Given the description of an element on the screen output the (x, y) to click on. 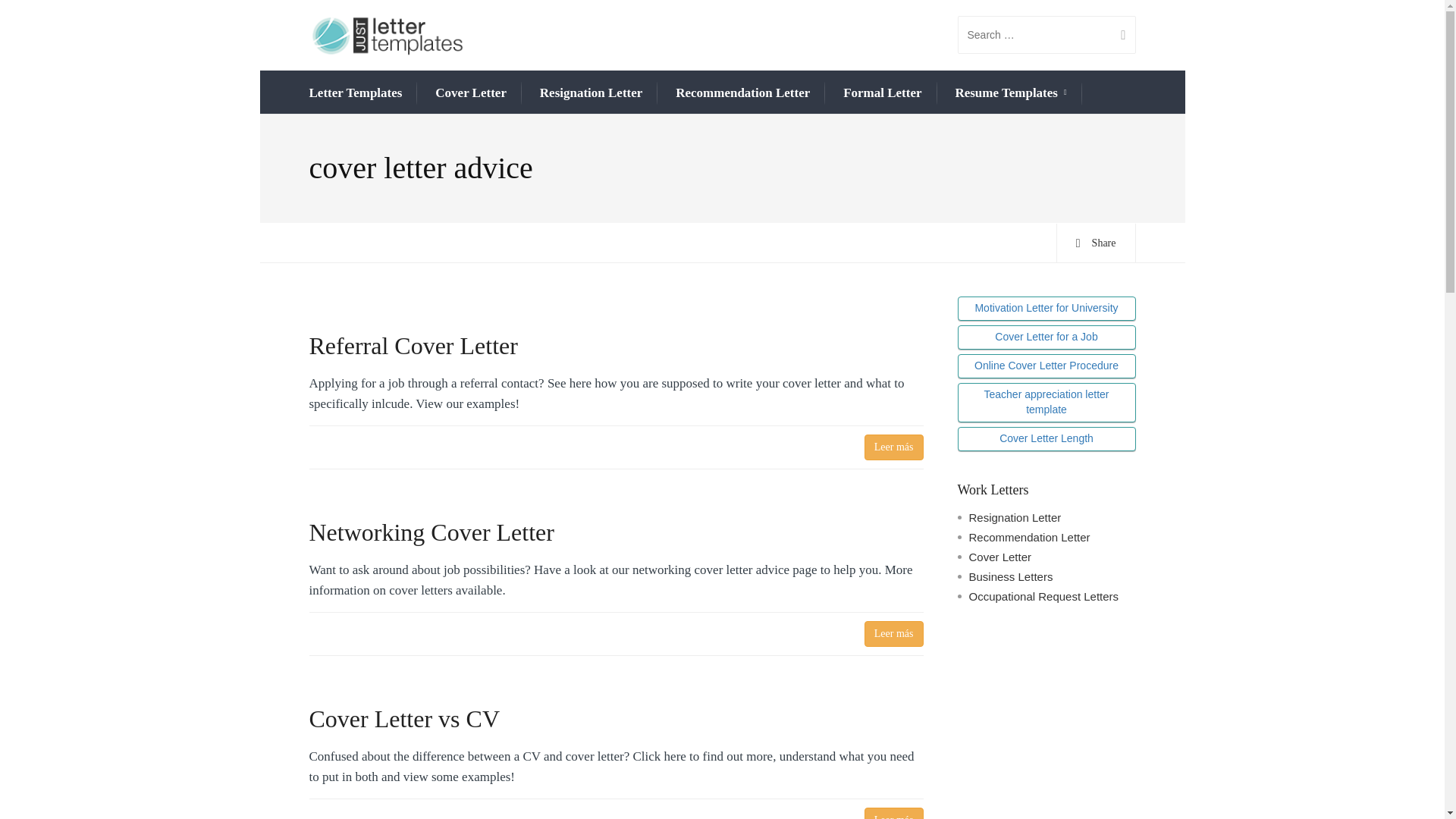
Referral Cover Letter (615, 345)
Networking Cover Letter (615, 532)
Letter Templates (355, 92)
Resume Templates (1010, 93)
Recommendation Letter (742, 92)
Advertisement (1045, 724)
Cover Letter vs CV (615, 718)
Resignation Letter (591, 92)
Search (1117, 34)
Cover Letter (470, 92)
